Given the description of an element on the screen output the (x, y) to click on. 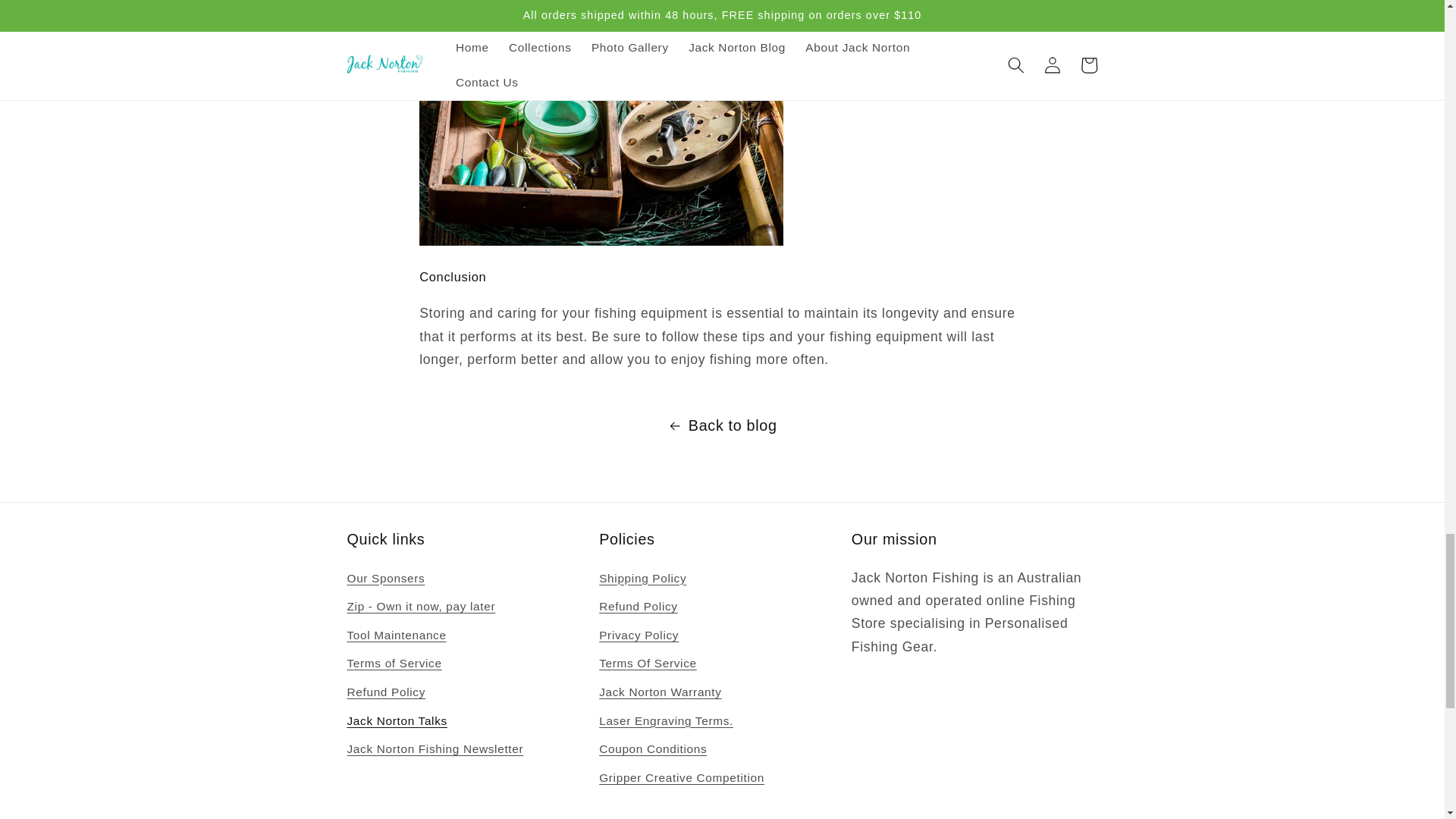
Shipping Policy (641, 580)
Jack Norton Fishing Newsletter (435, 749)
Refund Policy (386, 692)
Privacy Policy (638, 635)
Jack Norton Warranty (659, 692)
Laser Engraving Terms. (665, 720)
Refund Policy (638, 606)
Jack Norton Talks (396, 720)
Our Sponsers (386, 580)
Zip - Own it now, pay later (421, 606)
